Given the description of an element on the screen output the (x, y) to click on. 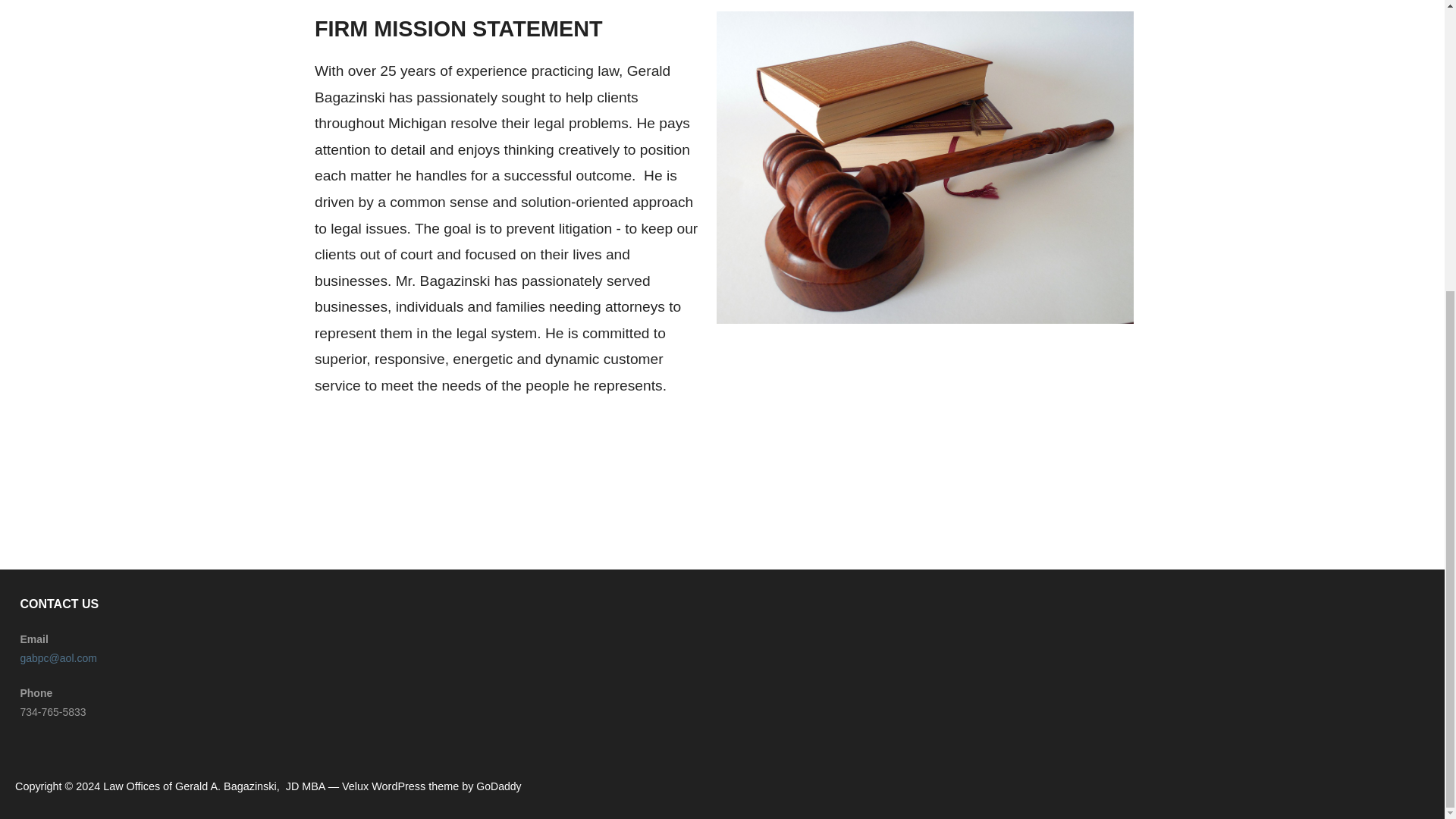
hammer (925, 167)
GoDaddy (498, 786)
